Given the description of an element on the screen output the (x, y) to click on. 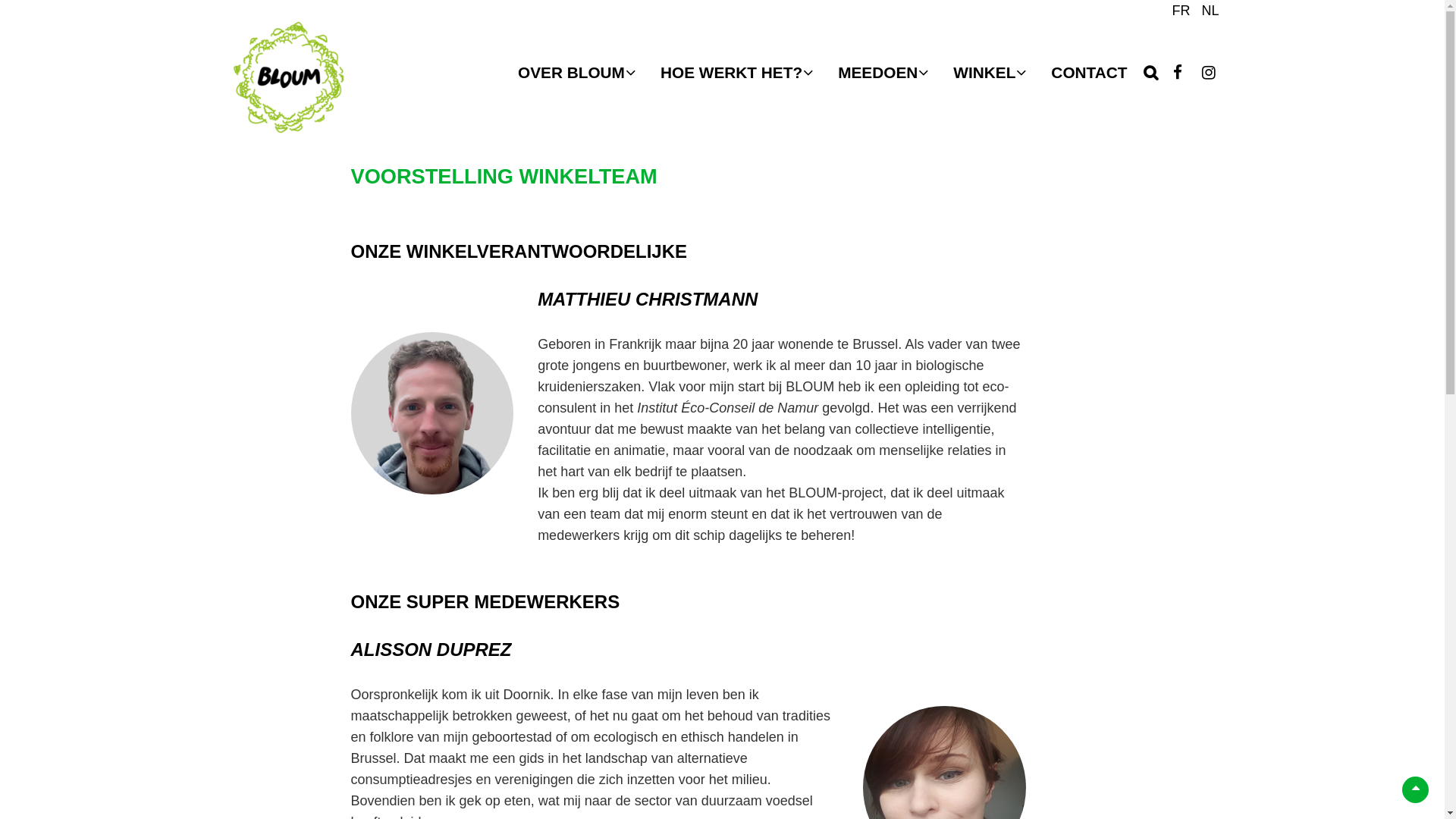
MEEDOEN Element type: text (885, 72)
HOE WERKT HET? Element type: text (739, 72)
OVER BLOUM Element type: text (578, 72)
CONTACT Element type: text (1088, 72)
WINKEL Element type: text (992, 72)
FR Element type: text (1180, 10)
Scroll Up Element type: text (1415, 789)
NL Element type: text (1209, 10)
Bloum Element type: text (406, 98)
Skip to content Element type: text (0, 0)
SEARCH Element type: text (1150, 62)
FACEBOOK Element type: text (1177, 72)
INSTAGRAM Element type: text (1207, 72)
